Given the description of an element on the screen output the (x, y) to click on. 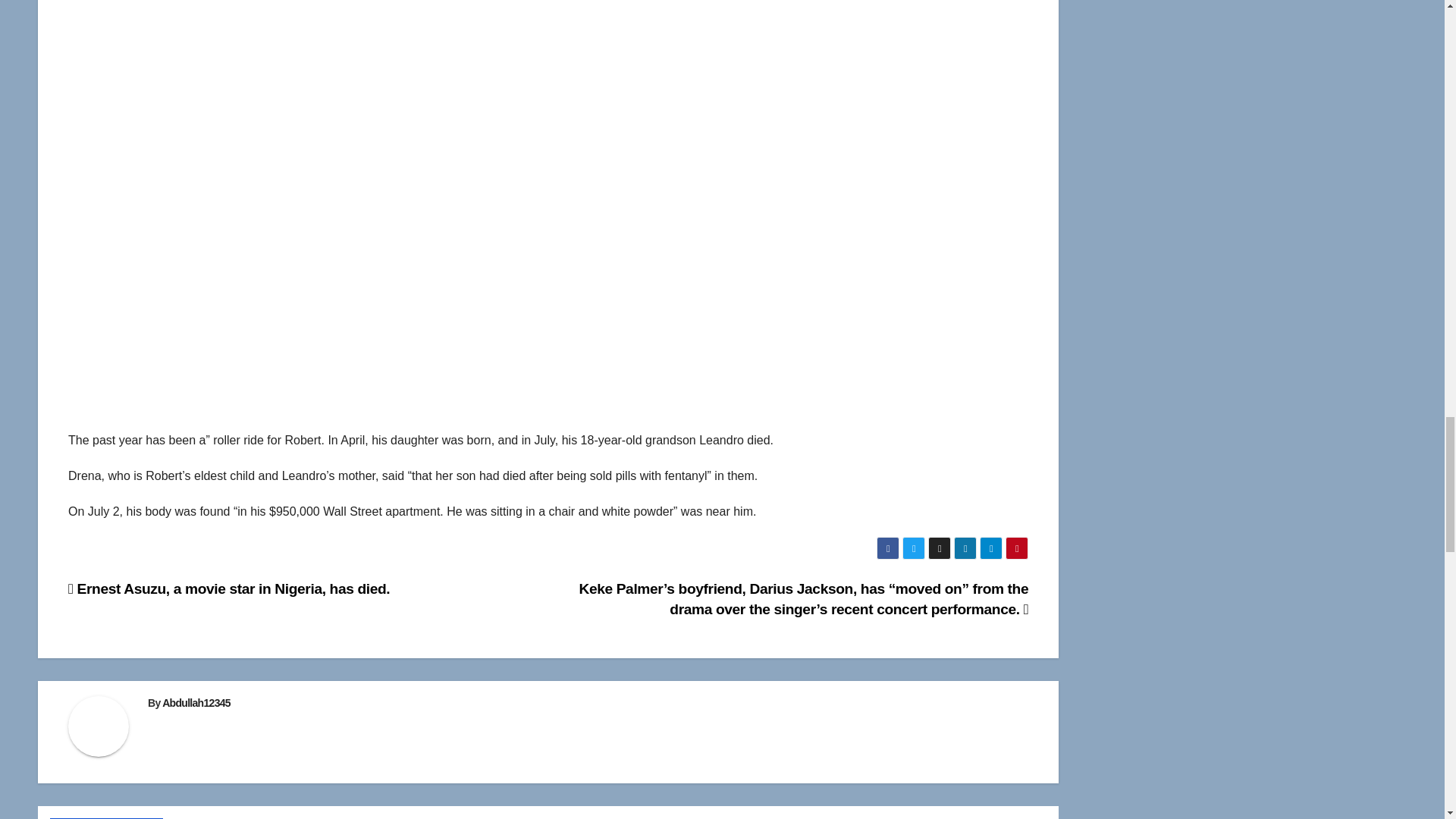
Ernest Asuzu, a movie star in Nigeria, has died. (229, 588)
Abdullah12345 (195, 702)
